Given the description of an element on the screen output the (x, y) to click on. 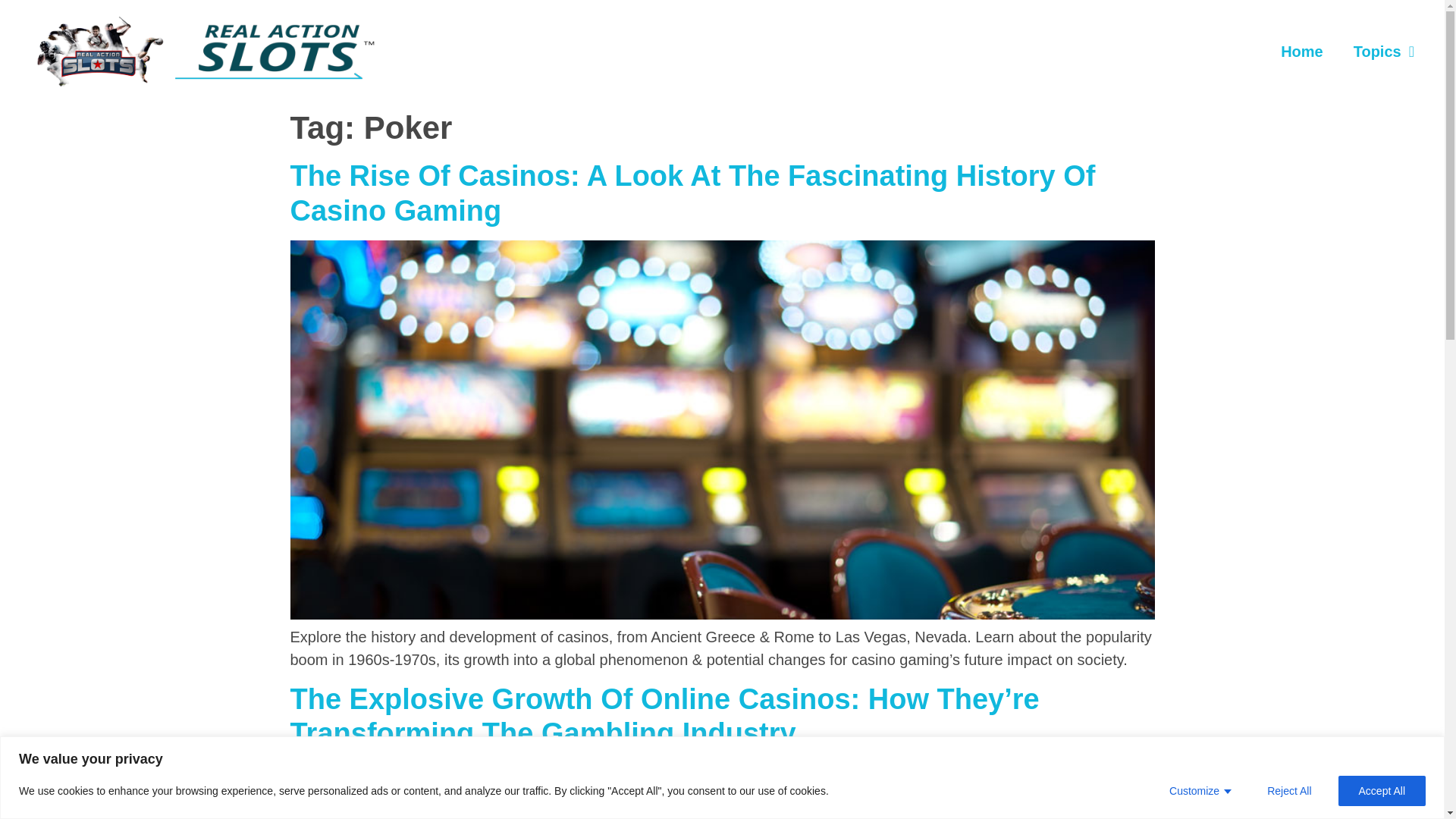
Reject All (1289, 789)
Accept All (1381, 789)
Home (1301, 51)
Customize (1199, 789)
Topics (1383, 51)
